Given the description of an element on the screen output the (x, y) to click on. 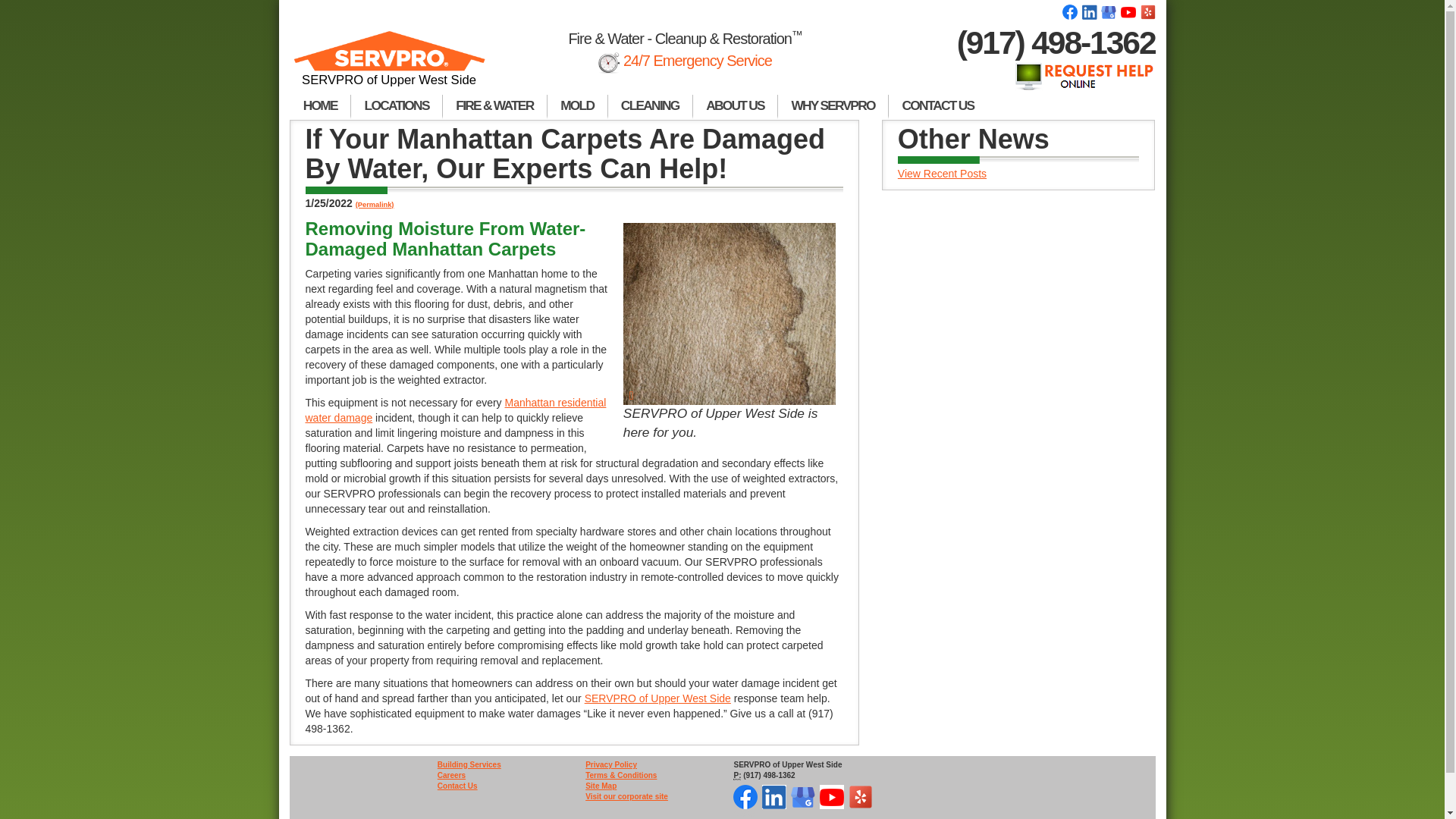
MOLD (577, 106)
HOME (319, 106)
LOCATIONS (396, 106)
SERVPRO of Upper West Side (389, 64)
CLEANING (650, 106)
